Given the description of an element on the screen output the (x, y) to click on. 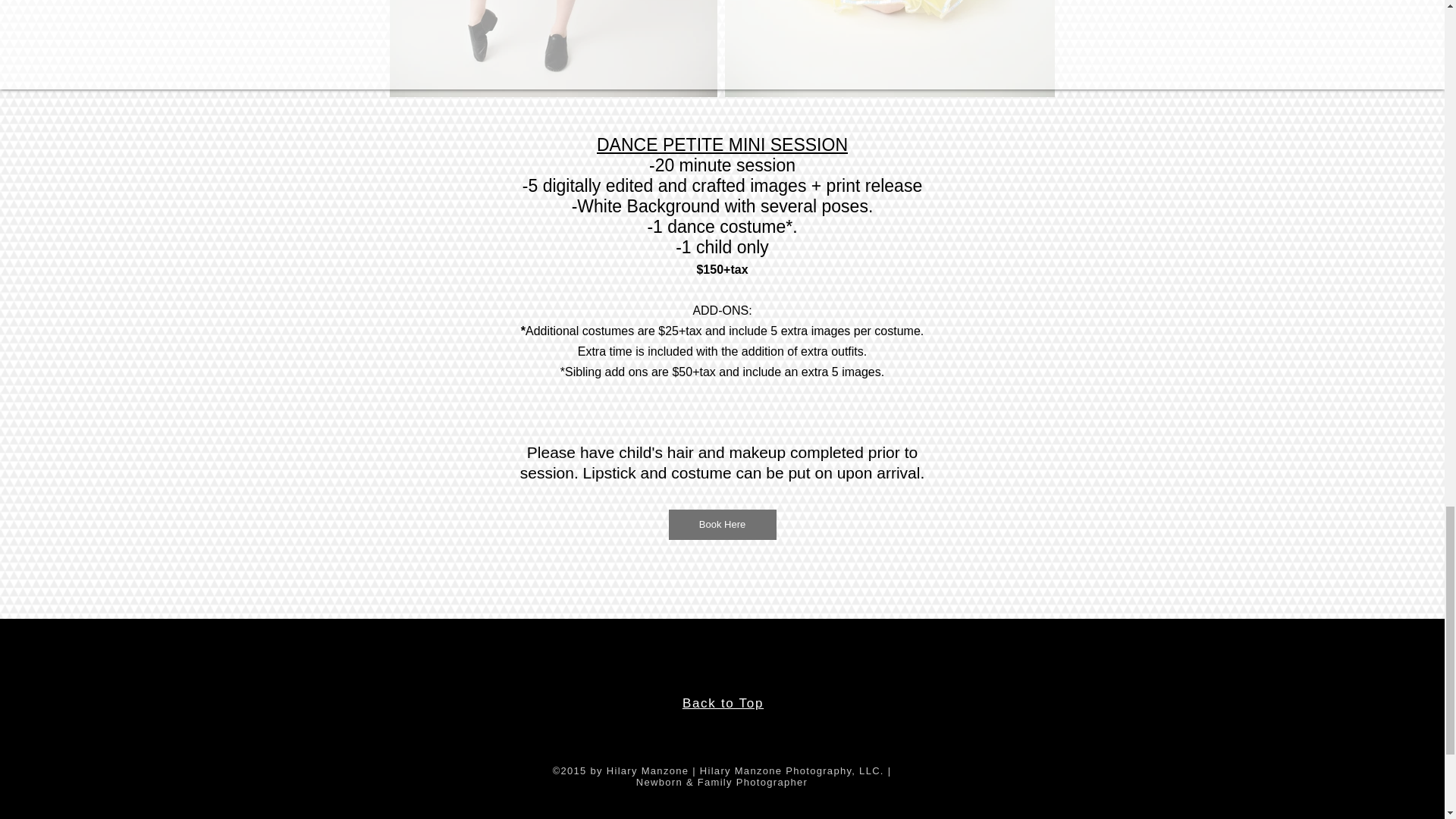
Book Here (722, 524)
Back to Top (722, 703)
